Given the description of an element on the screen output the (x, y) to click on. 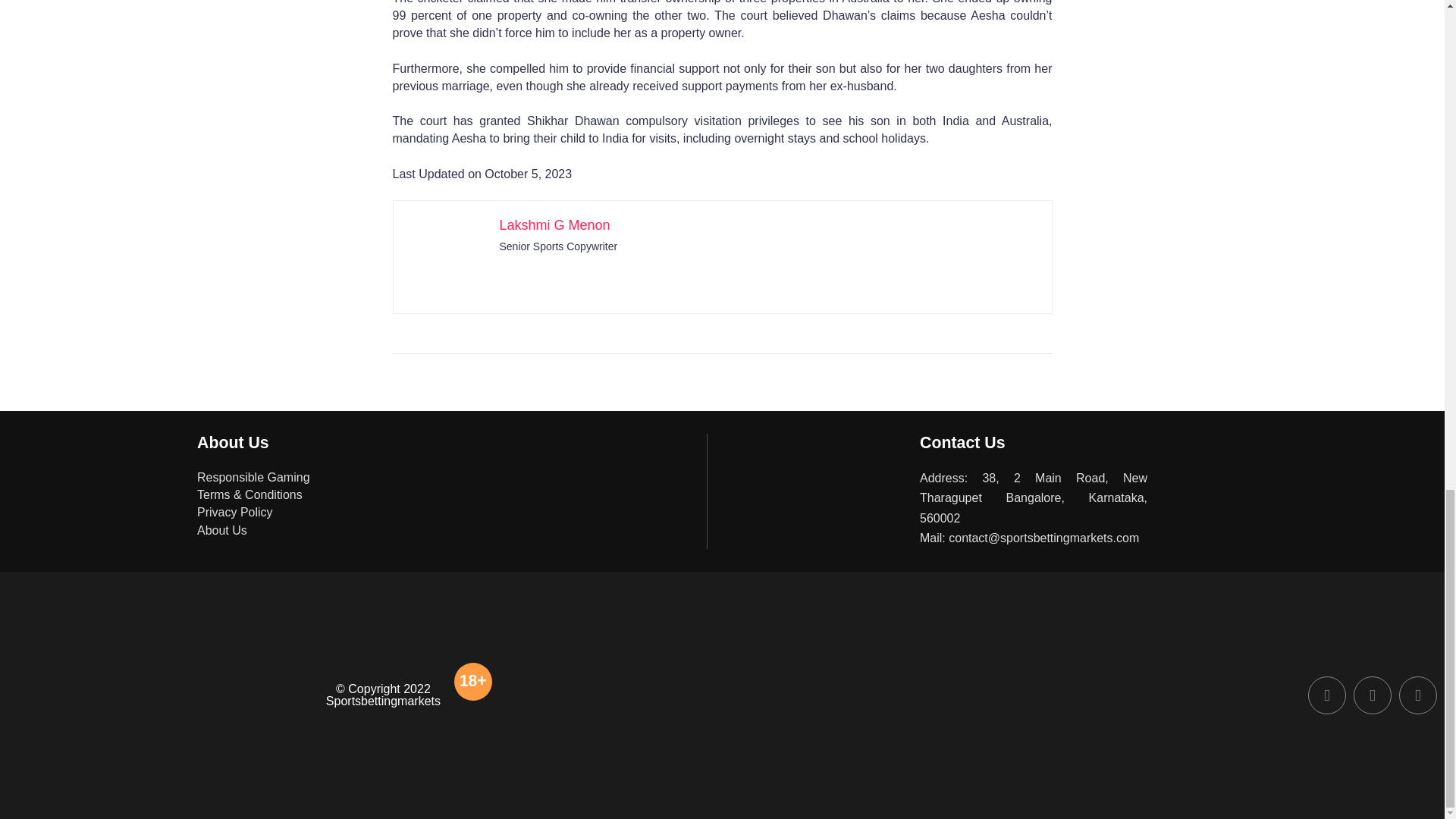
Twitter (1372, 695)
Instagram (1418, 695)
Facebook (1326, 695)
DMCA.com Protection Status (120, 804)
